Given the description of an element on the screen output the (x, y) to click on. 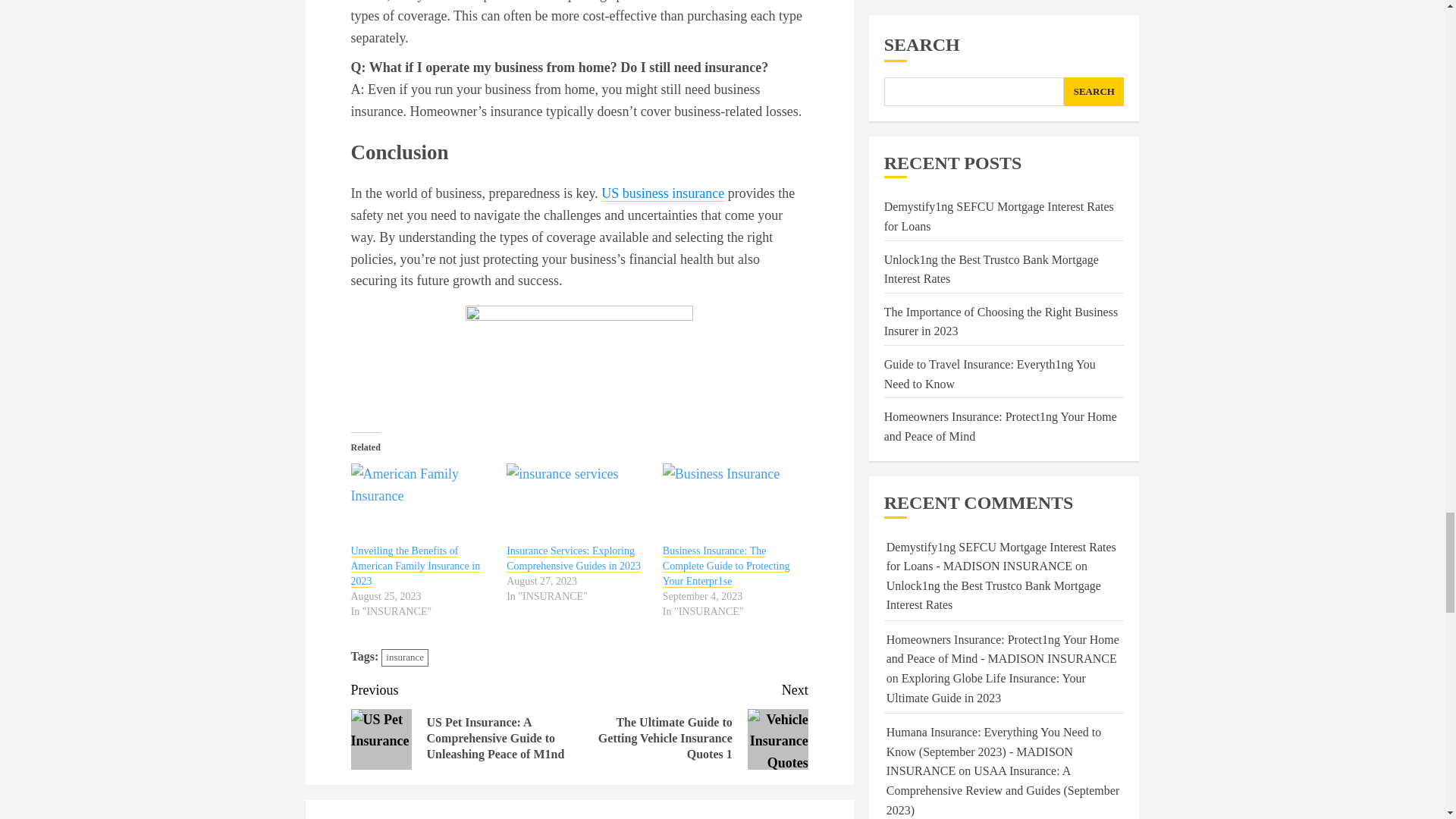
Unveiling the Benefits of American Family Insurance in 2023 (421, 503)
US business insurance (662, 193)
Insurance Services: Exploring Comprehensive Guides in 2023 (573, 558)
Insurance Services: Exploring Comprehensive Guides in 2023 (576, 503)
Unveiling the Benefits of American Family Insurance in 2023 (415, 566)
